Given the description of an element on the screen output the (x, y) to click on. 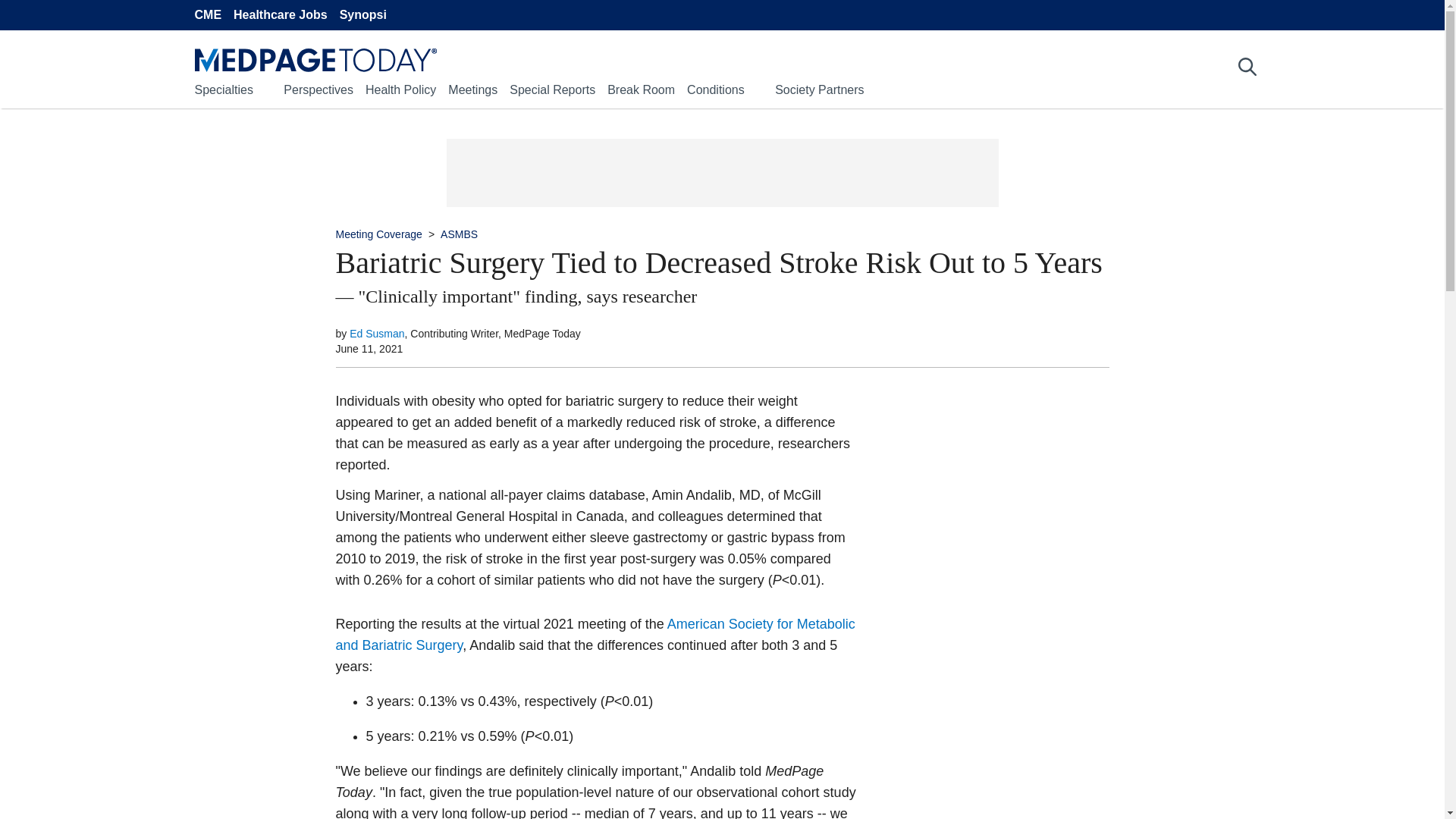
Healthcare Jobs (279, 15)
Specialties (222, 89)
Synopsi (363, 15)
CME (207, 15)
